Given the description of an element on the screen output the (x, y) to click on. 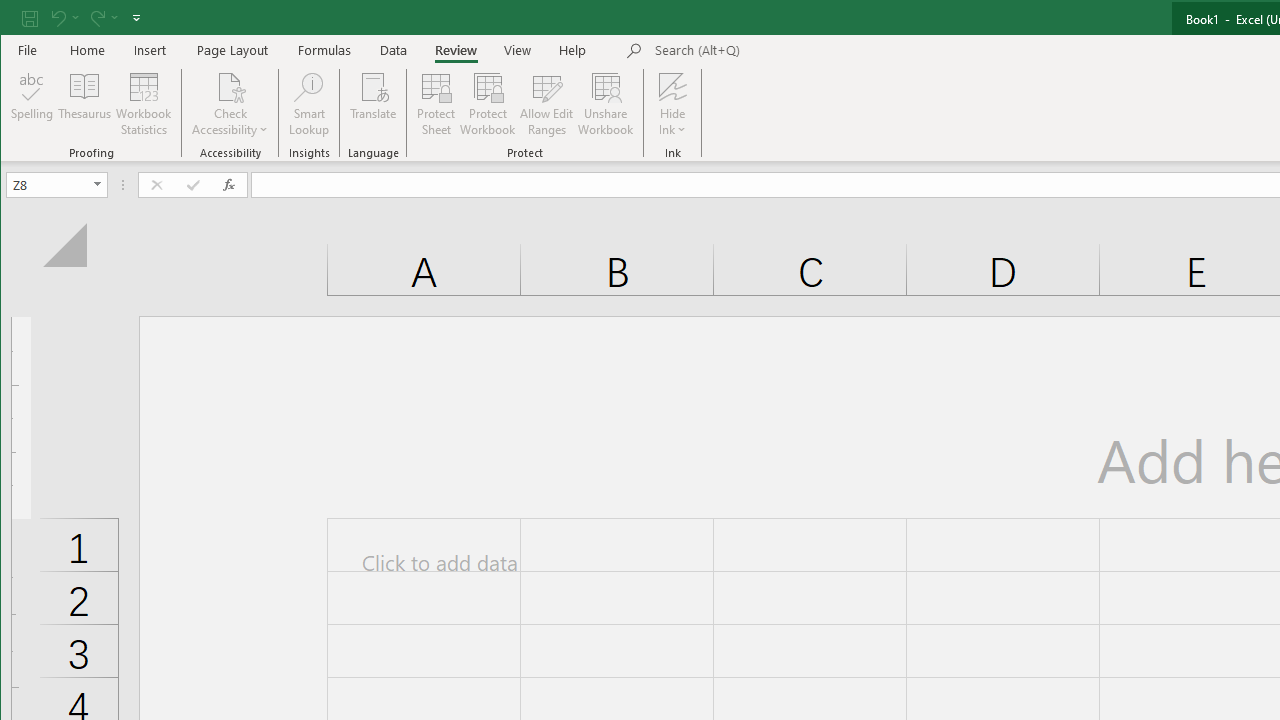
Protect Sheet... (436, 104)
Unshare Workbook (606, 104)
